Given the description of an element on the screen output the (x, y) to click on. 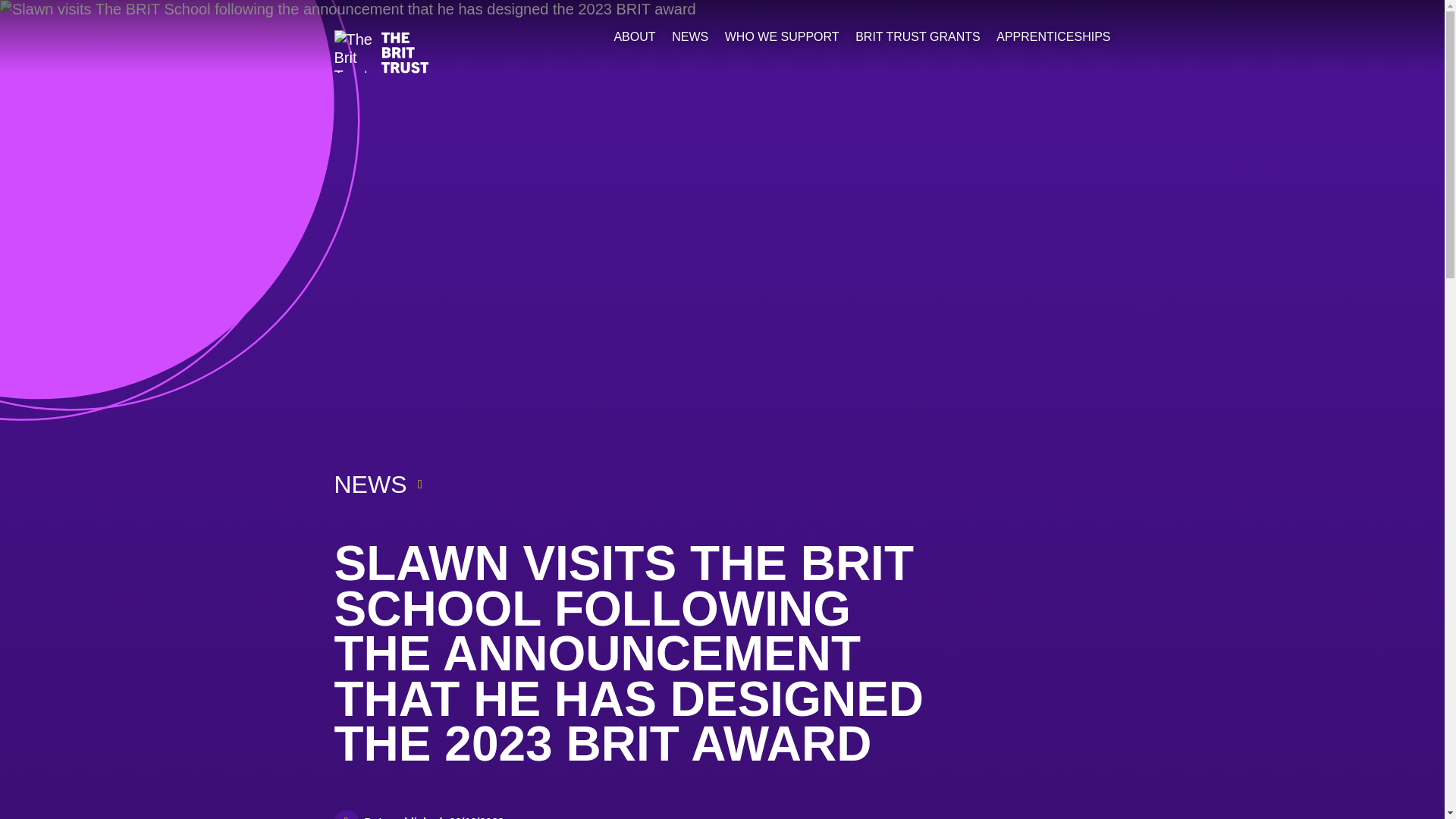
NEWS (689, 37)
APPRENTICESHIPS (1052, 37)
ABOUT (633, 37)
WHO WE SUPPORT (782, 37)
BRIT TRUST GRANTS (917, 37)
NEWS (369, 483)
